Given the description of an element on the screen output the (x, y) to click on. 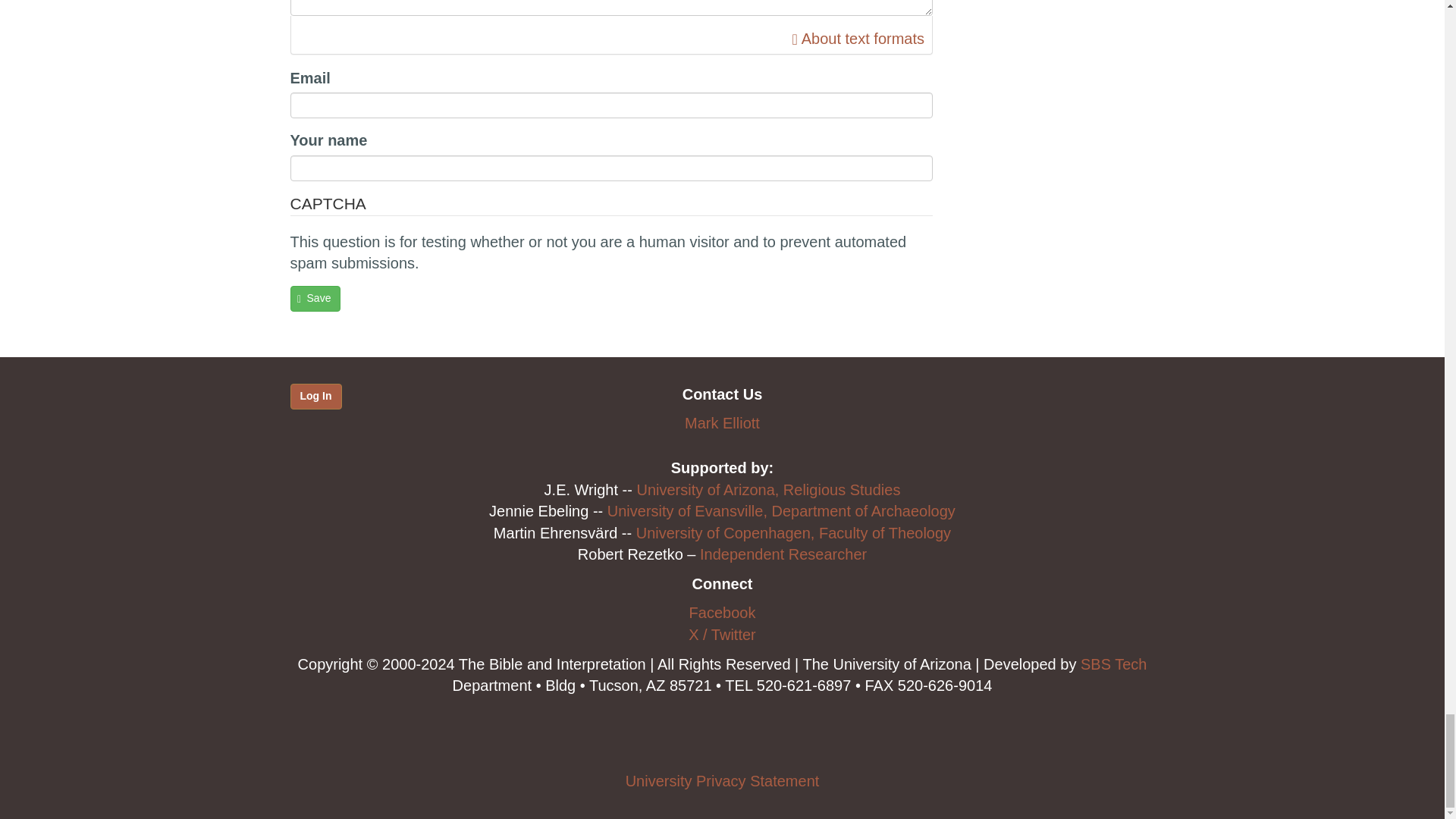
Opens in new window (858, 38)
